Given the description of an element on the screen output the (x, y) to click on. 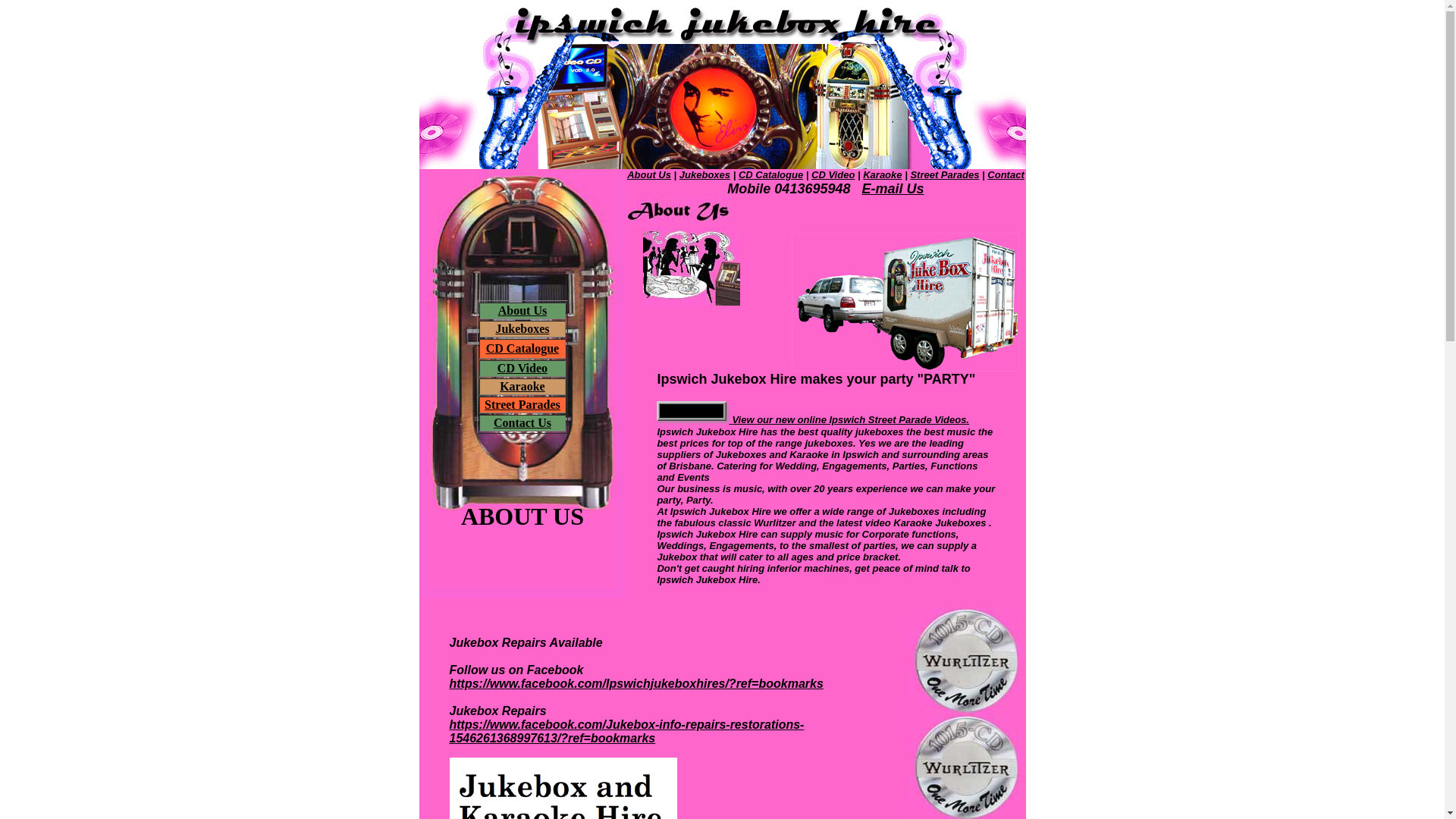
Karaoke Element type: text (881, 174)
CD Catalogue Element type: text (522, 348)
E-mail Us Element type: text (892, 188)
Karaoke Element type: text (522, 385)
CD Video Element type: text (832, 174)
Jukeboxes Element type: text (522, 328)
https://www.facebook.com/Ipswichjukeboxhires/?ref=bookmarks Element type: text (635, 683)
About Us Element type: text (649, 173)
View our new online Ipswich Street Parade Videos. Element type: text (812, 418)
Street Parades Element type: text (522, 404)
About Us Element type: text (522, 310)
Jukeboxes Element type: text (704, 174)
CD Catalogue Element type: text (770, 174)
Contact Us Element type: text (522, 422)
Street Parades Element type: text (944, 174)
CD Video Element type: text (522, 367)
Contact Element type: text (1005, 174)
